Given the description of an element on the screen output the (x, y) to click on. 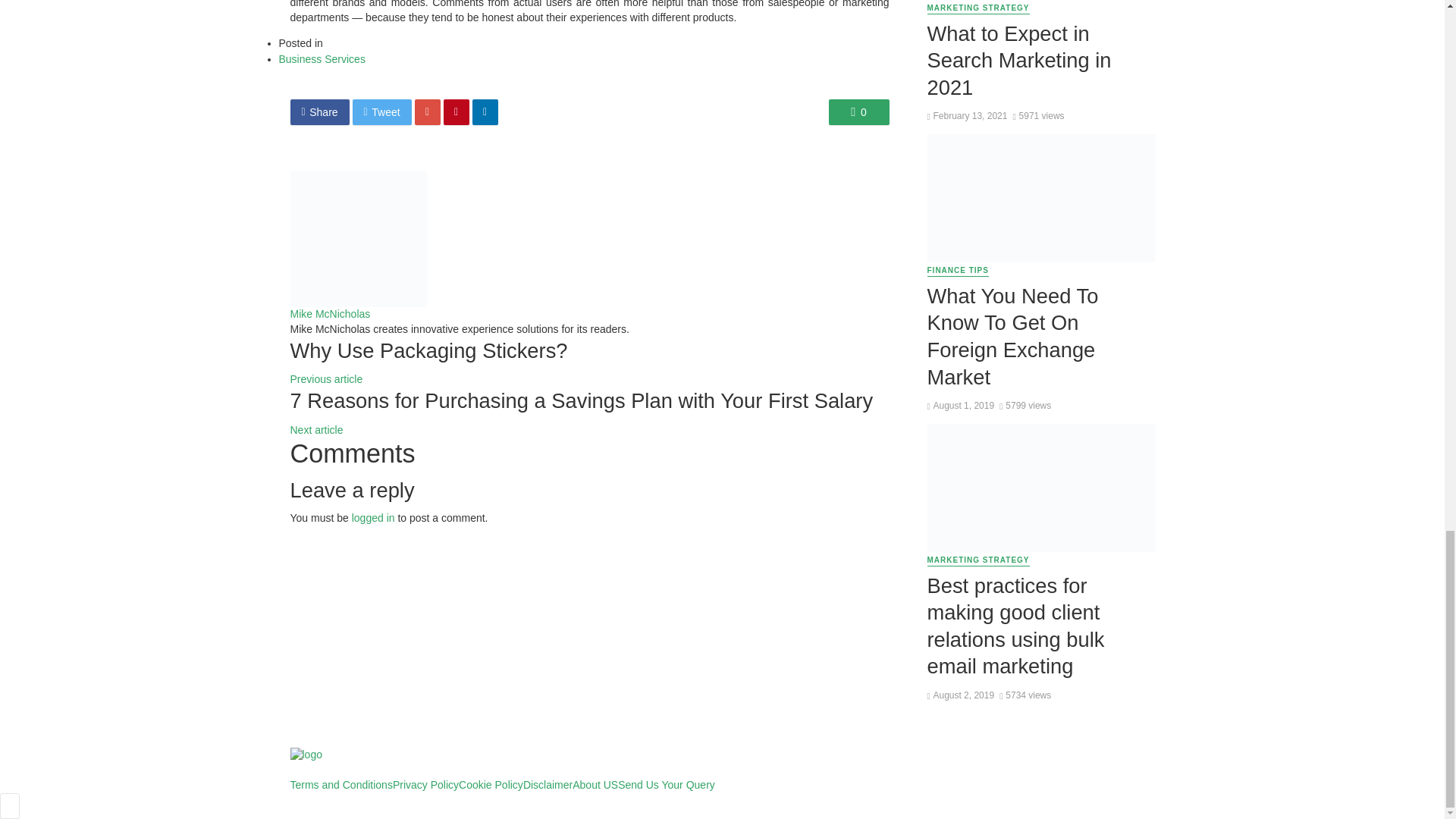
Business Services (322, 59)
Tweet (382, 112)
Share (319, 112)
0 (858, 112)
